Given the description of an element on the screen output the (x, y) to click on. 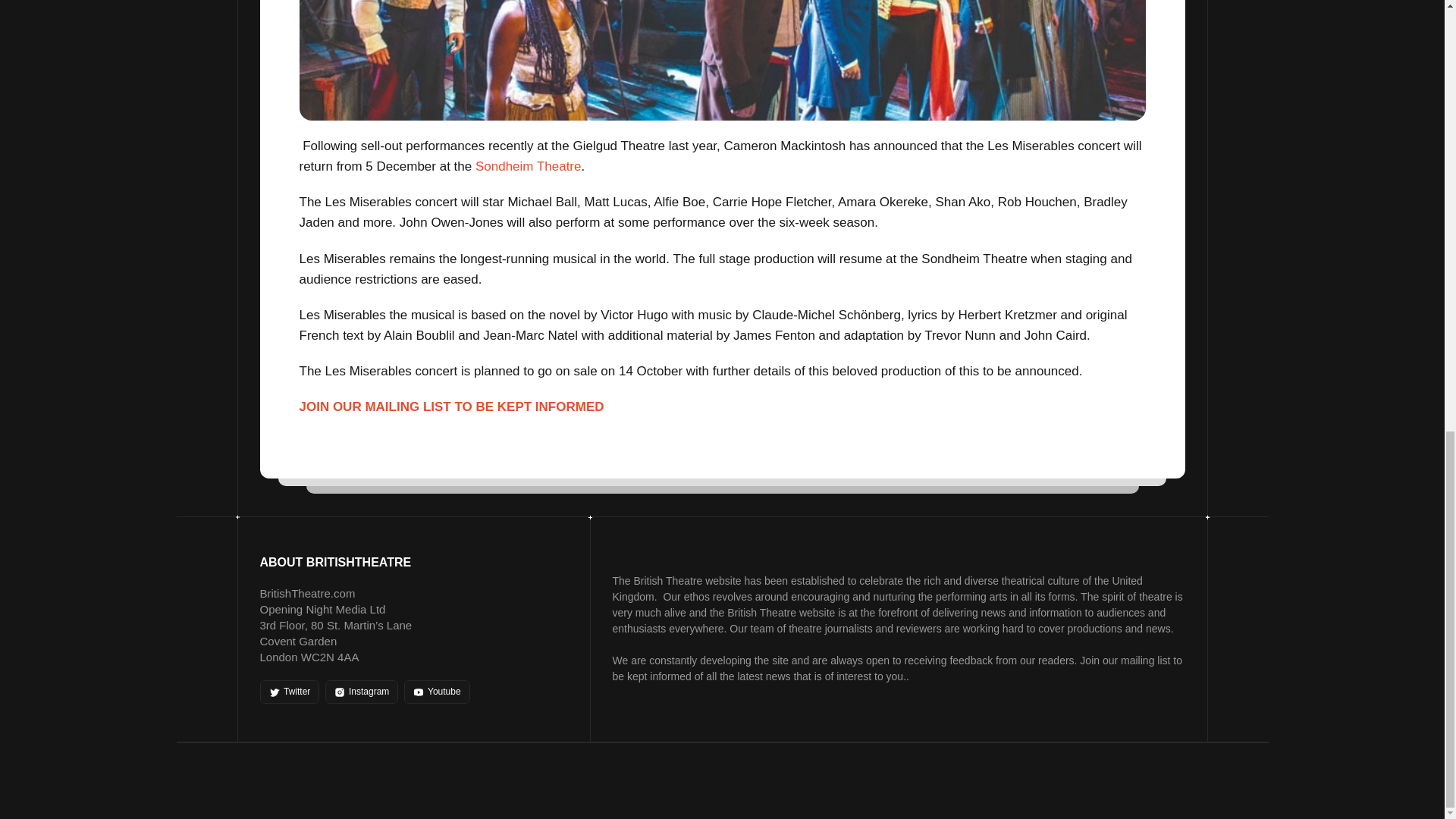
Youtube (437, 691)
Sondheim Theatre (528, 165)
JOIN OUR MAILING LIST TO BE KEPT INFORMED  (452, 406)
Instagram (360, 691)
Twitter (288, 691)
